Given the description of an element on the screen output the (x, y) to click on. 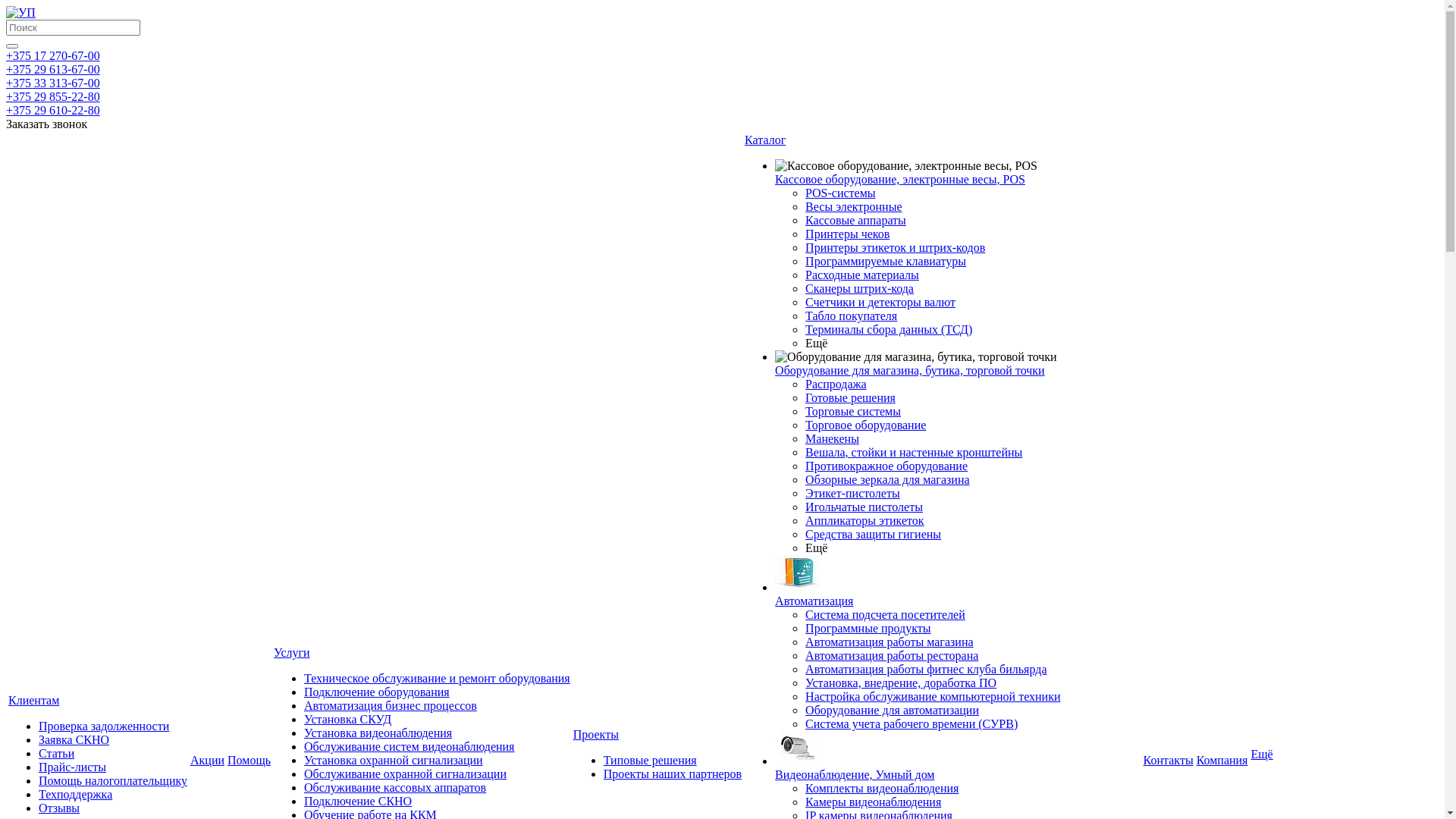
+375 29 855-22-80 Element type: text (53, 96)
+375 29 613-67-00 Element type: text (53, 68)
+375 17 270-67-00 Element type: text (53, 55)
+375 33 313-67-00 Element type: text (53, 82)
+375 29 610-22-80 Element type: text (53, 109)
